Given the description of an element on the screen output the (x, y) to click on. 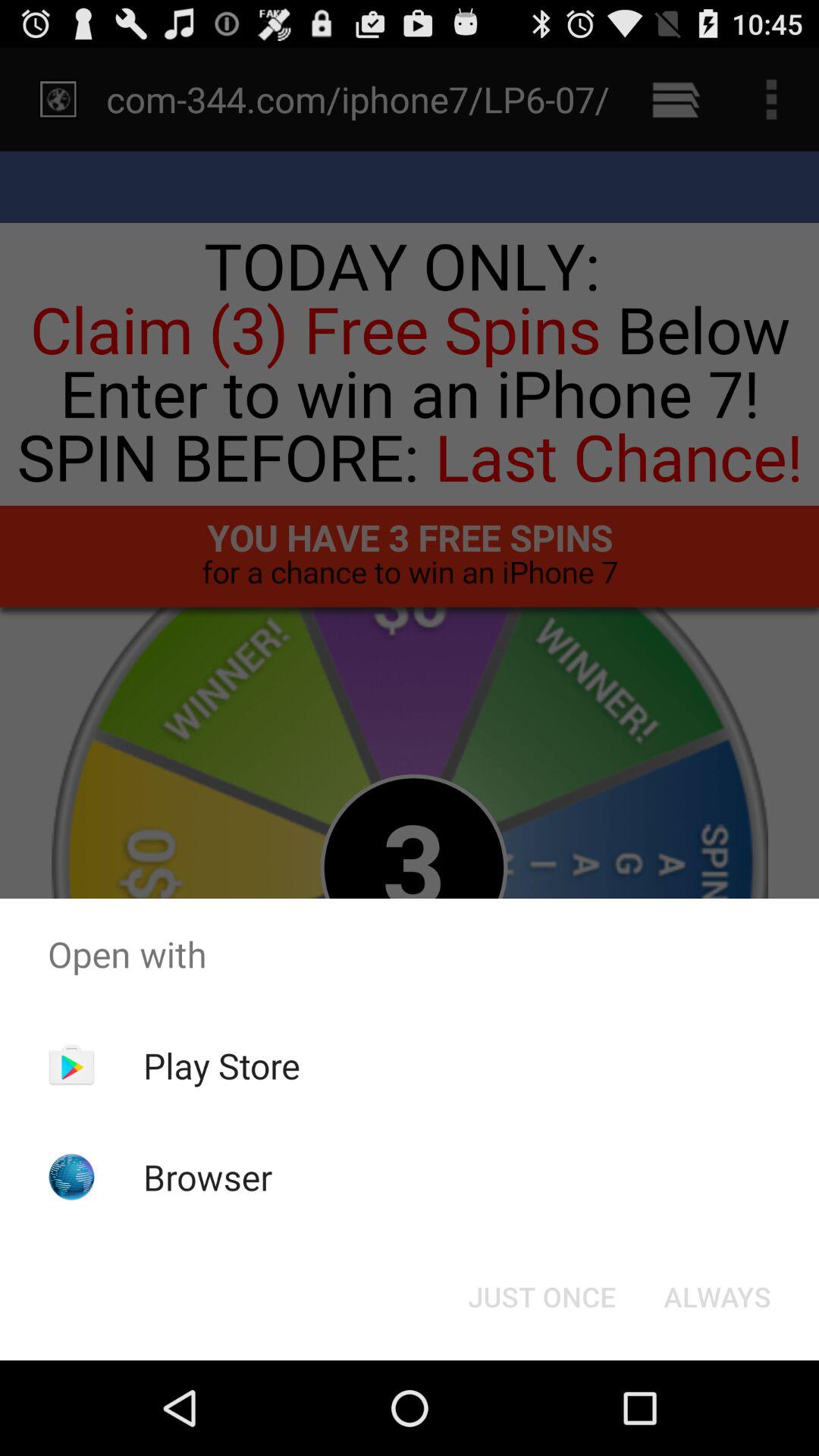
choose the always item (717, 1296)
